Given the description of an element on the screen output the (x, y) to click on. 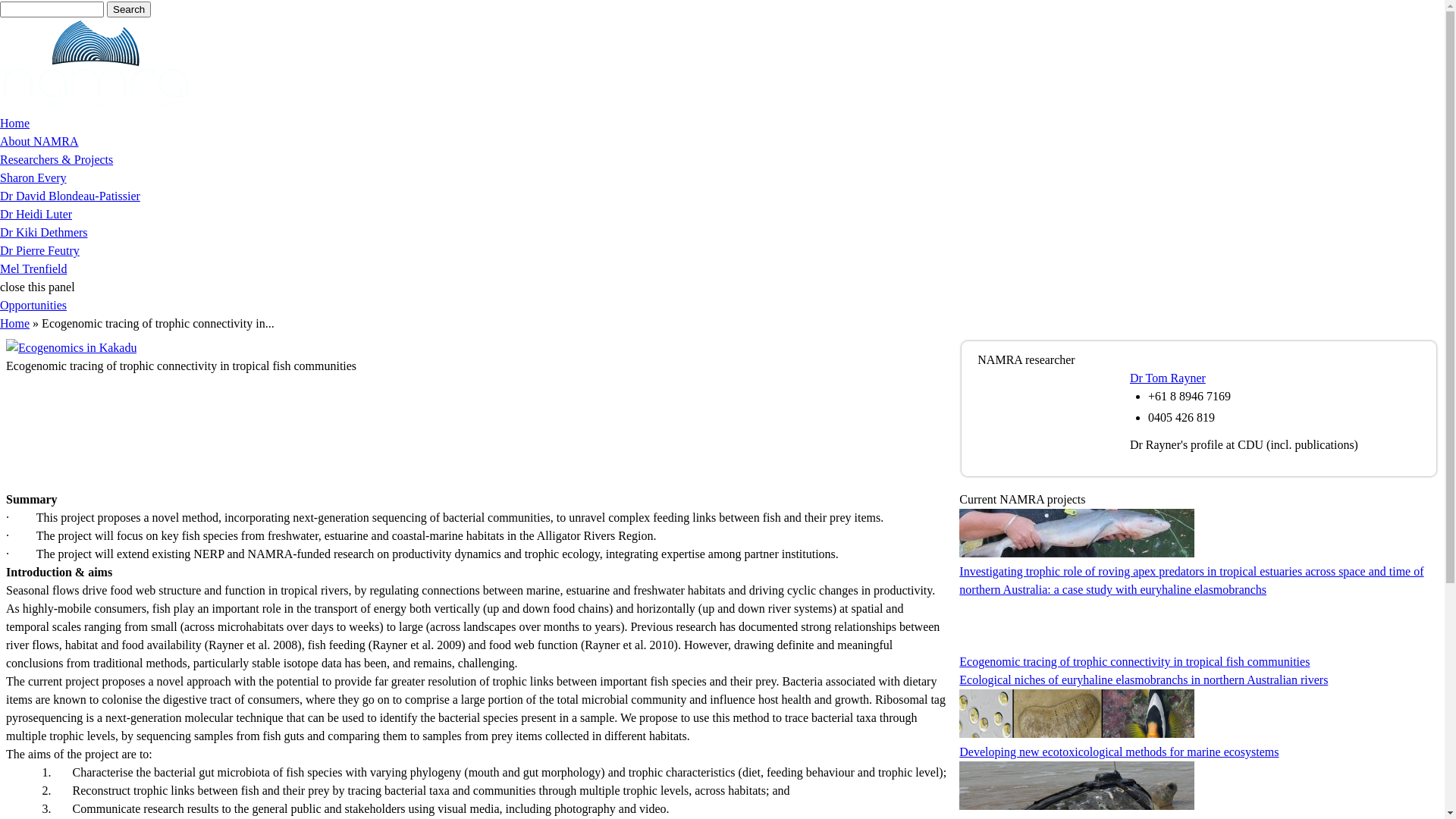
Tom Rayner sampling fish communities. Element type: hover (1021, 397)
Opportunities Element type: text (33, 304)
Dr Kiki Dethmers Element type: text (43, 231)
Dr Tom Rayner Element type: text (1167, 377)
Isochrysis galbana, Holothuria scabra, Amphiprion clarkii Element type: hover (1076, 713)
Ecogenomics in Kakadu Element type: hover (71, 347)
Juvenile Bull Shark Element type: hover (1076, 532)
Sharon Every Element type: text (33, 177)
Turtle and transmitter Element type: hover (1076, 785)
Home Element type: text (14, 122)
About NAMRA Element type: text (39, 140)
Mel Trenfield Element type: text (33, 268)
Dr David Blondeau-Patissier Element type: text (70, 195)
Jump to Content Element type: text (40, 0)
Dr Pierre Feutry Element type: text (39, 250)
Back to homepage Element type: hover (95, 104)
Ecogenomics in Kakadu Element type: hover (1076, 623)
Home Element type: text (14, 322)
Enter the terms you wish to search for. Element type: hover (51, 9)
Dr Heidi Luter Element type: text (36, 213)
Ecogenomics in Kakadu Element type: hover (71, 347)
Search Element type: text (128, 9)
Researchers & Projects Element type: text (56, 159)
